Given the description of an element on the screen output the (x, y) to click on. 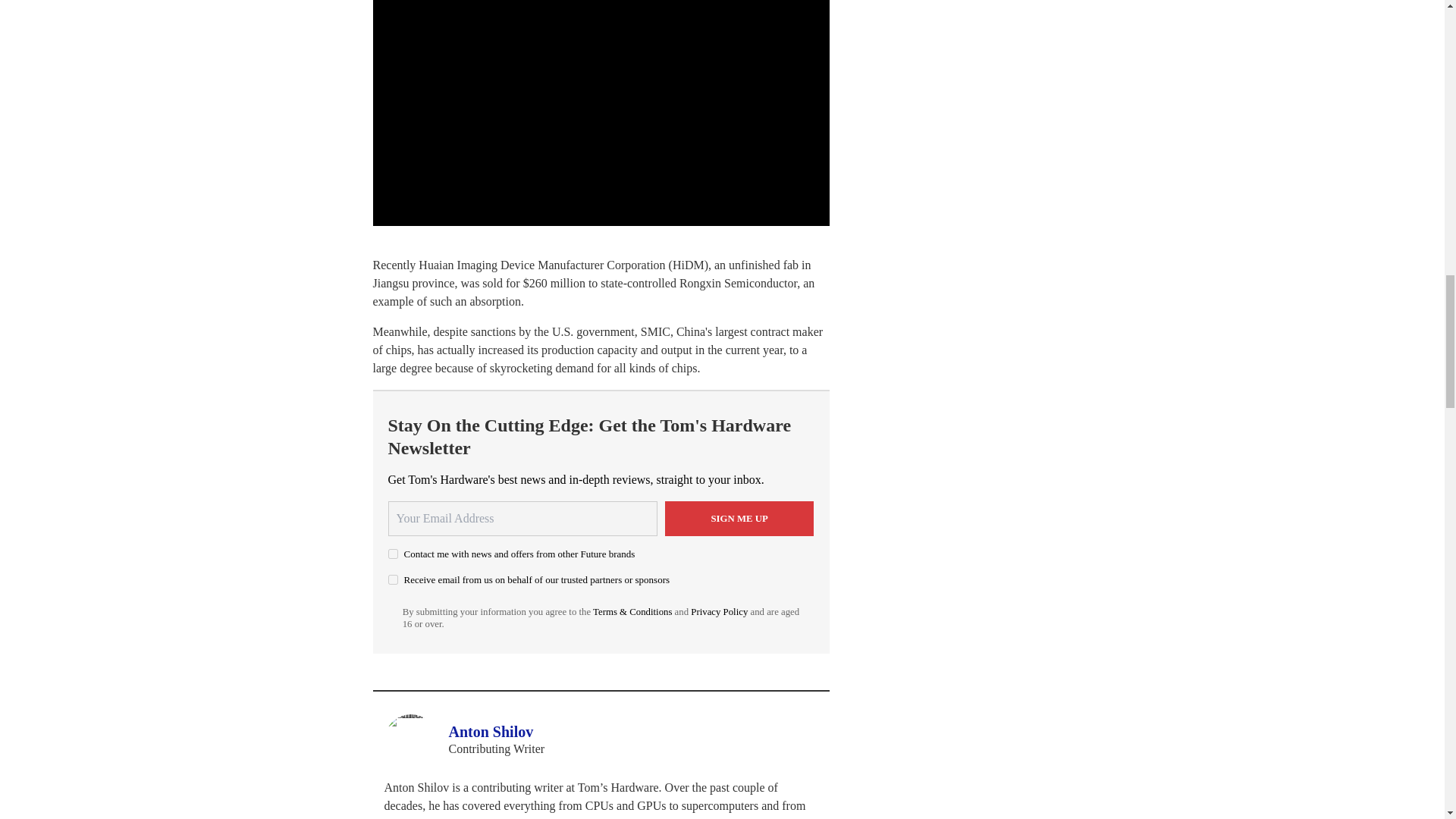
Sign me up (739, 518)
on (392, 579)
on (392, 553)
